Given the description of an element on the screen output the (x, y) to click on. 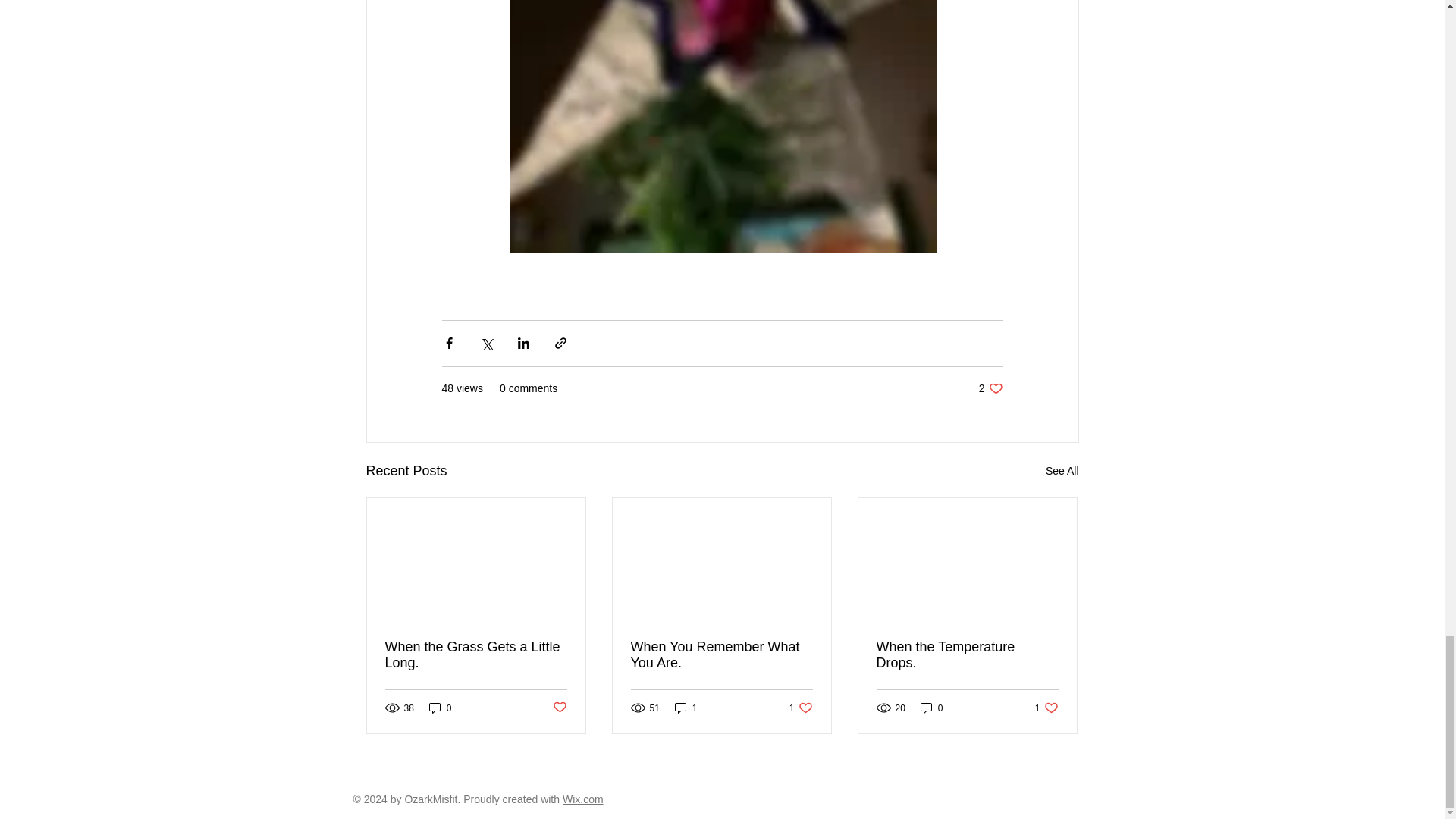
Wix.com (800, 707)
When the Temperature Drops. (583, 799)
Post not marked as liked (967, 654)
When the Grass Gets a Little Long. (558, 707)
0 (476, 654)
1 (931, 707)
See All (685, 707)
0 (1061, 471)
When You Remember What You Are. (1046, 707)
